Given the description of an element on the screen output the (x, y) to click on. 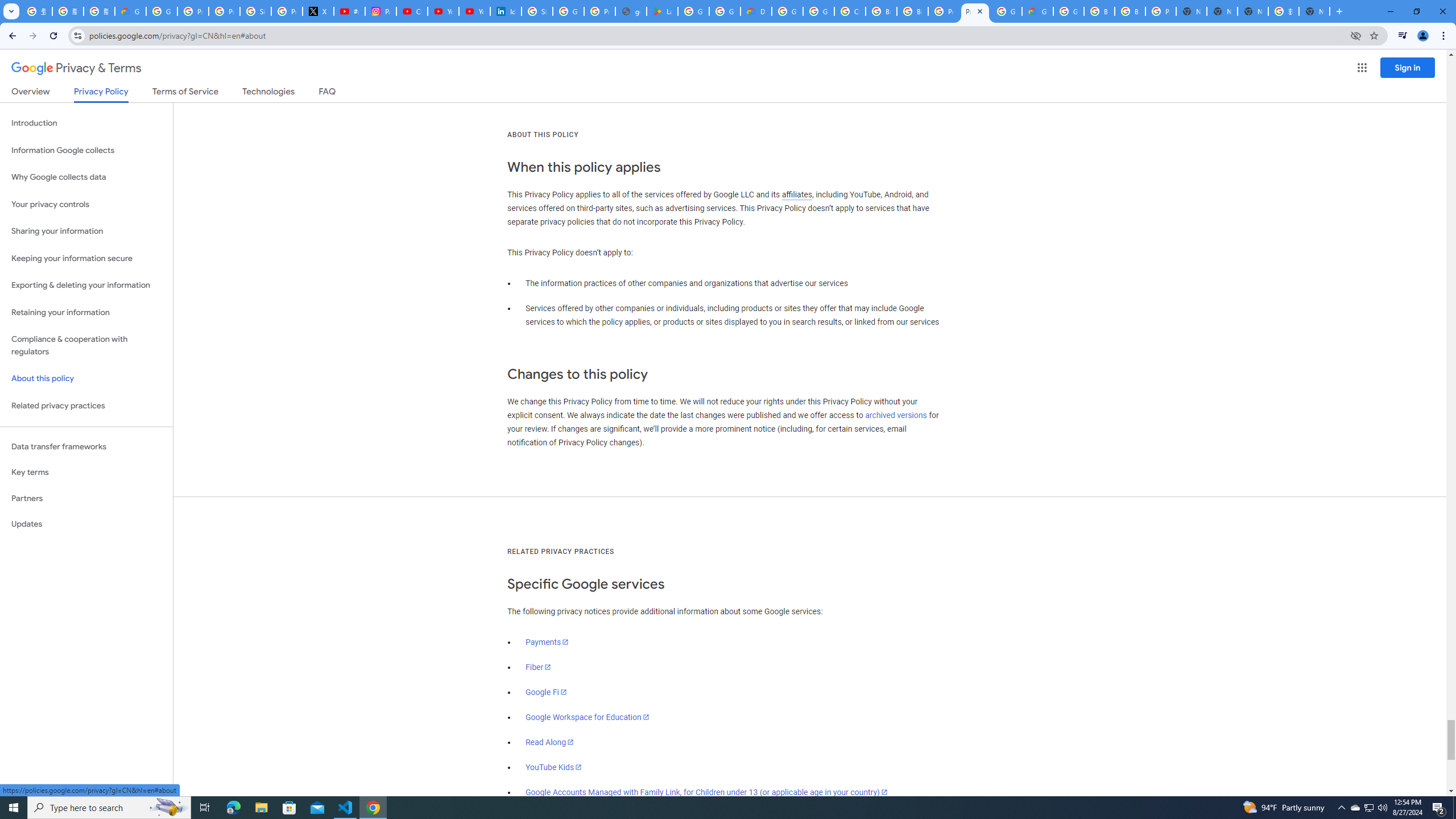
Sharing your information (86, 230)
Read Along (550, 741)
archived versions (895, 415)
Google Cloud Estimate Summary (1037, 11)
Data transfer frameworks (86, 446)
Google Workspace - Specific Terms (724, 11)
